Given the description of an element on the screen output the (x, y) to click on. 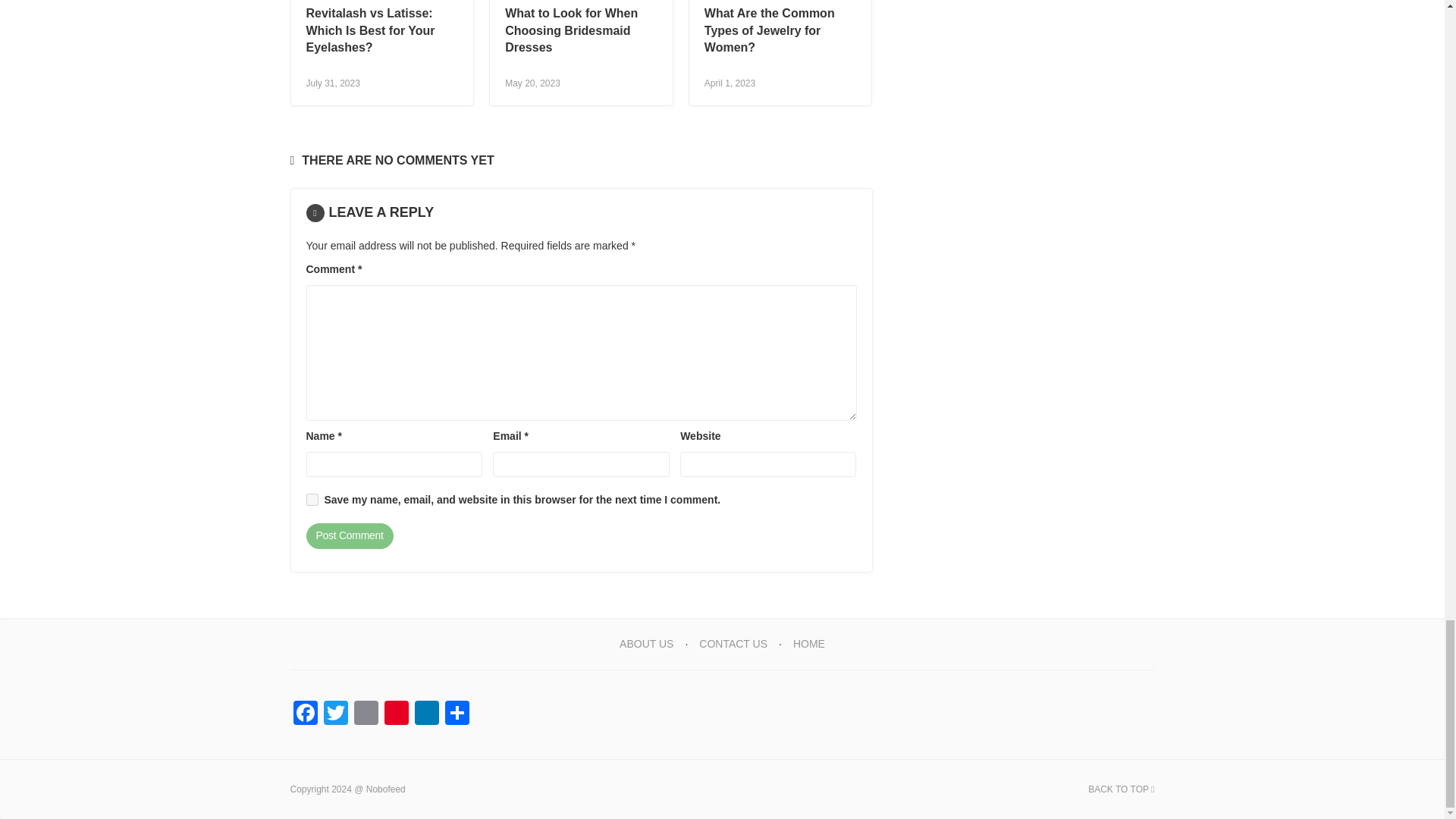
BACK TO TOP  (1120, 789)
Post Comment (349, 535)
yes (311, 499)
